Given the description of an element on the screen output the (x, y) to click on. 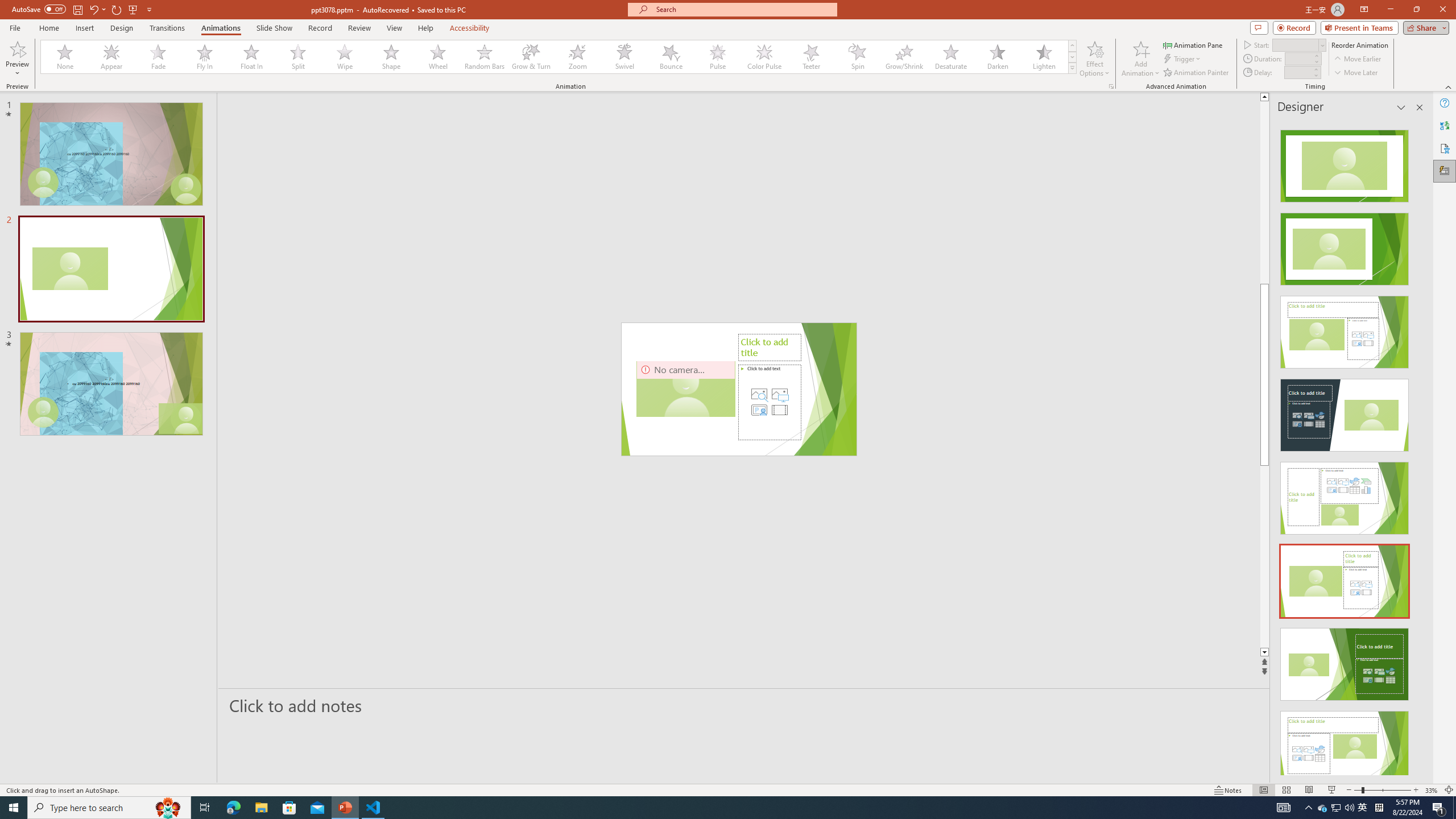
Animations (220, 28)
View (395, 28)
Title TextBox (663, 389)
Animation Painter (1196, 72)
Slide Notes (743, 705)
Accessibility (1444, 147)
Wipe (344, 56)
Color Pulse (764, 56)
Bounce (670, 56)
Animation Duration (1298, 58)
Design Idea (1344, 743)
Appear (111, 56)
